Given the description of an element on the screen output the (x, y) to click on. 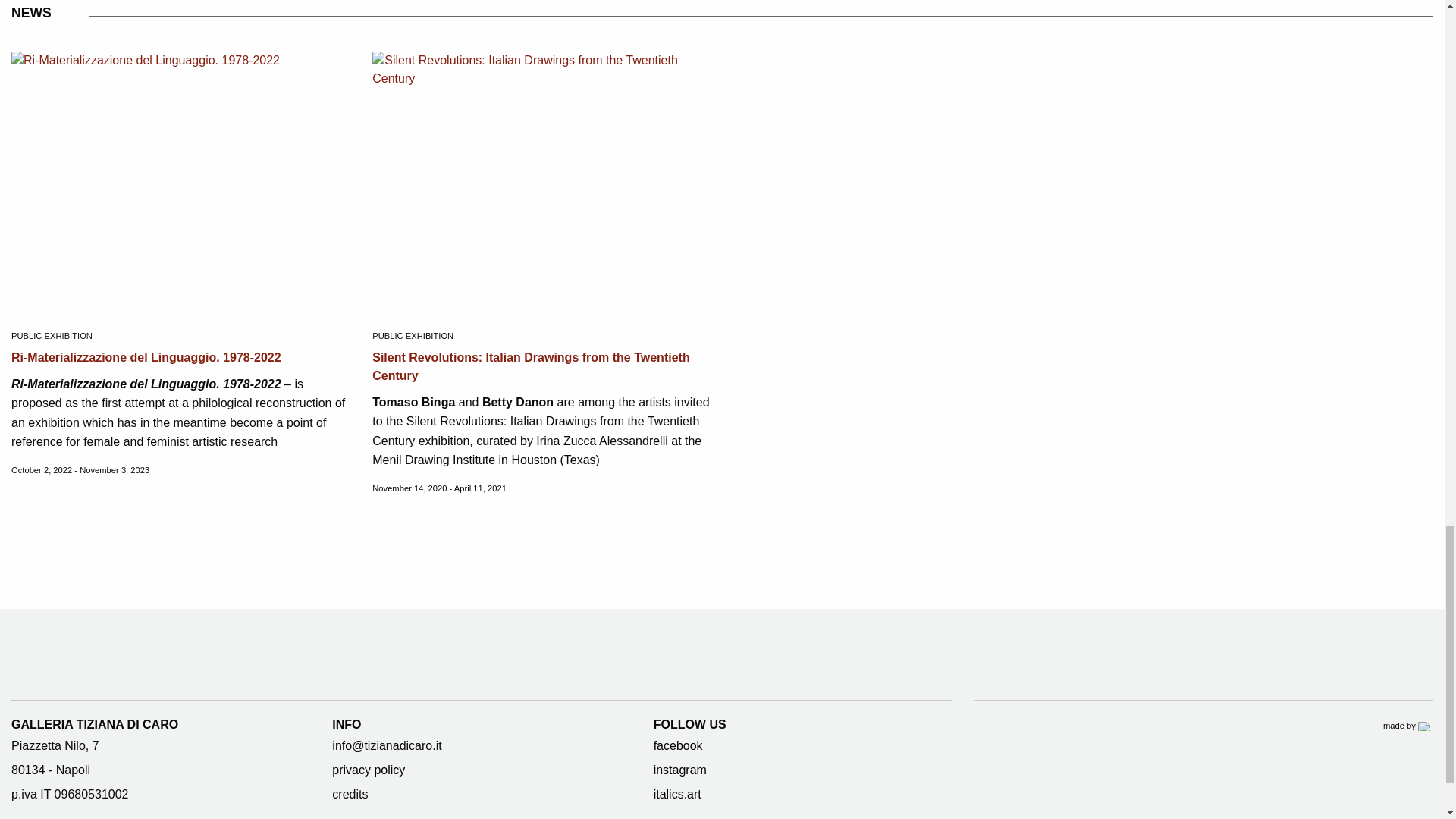
facebook (678, 745)
made by (1407, 725)
privacy policy  (369, 769)
italics.art (677, 793)
Ri-Materializzazione del Linguaggio. 1978-2022 (146, 357)
instagram (679, 769)
